Given the description of an element on the screen output the (x, y) to click on. 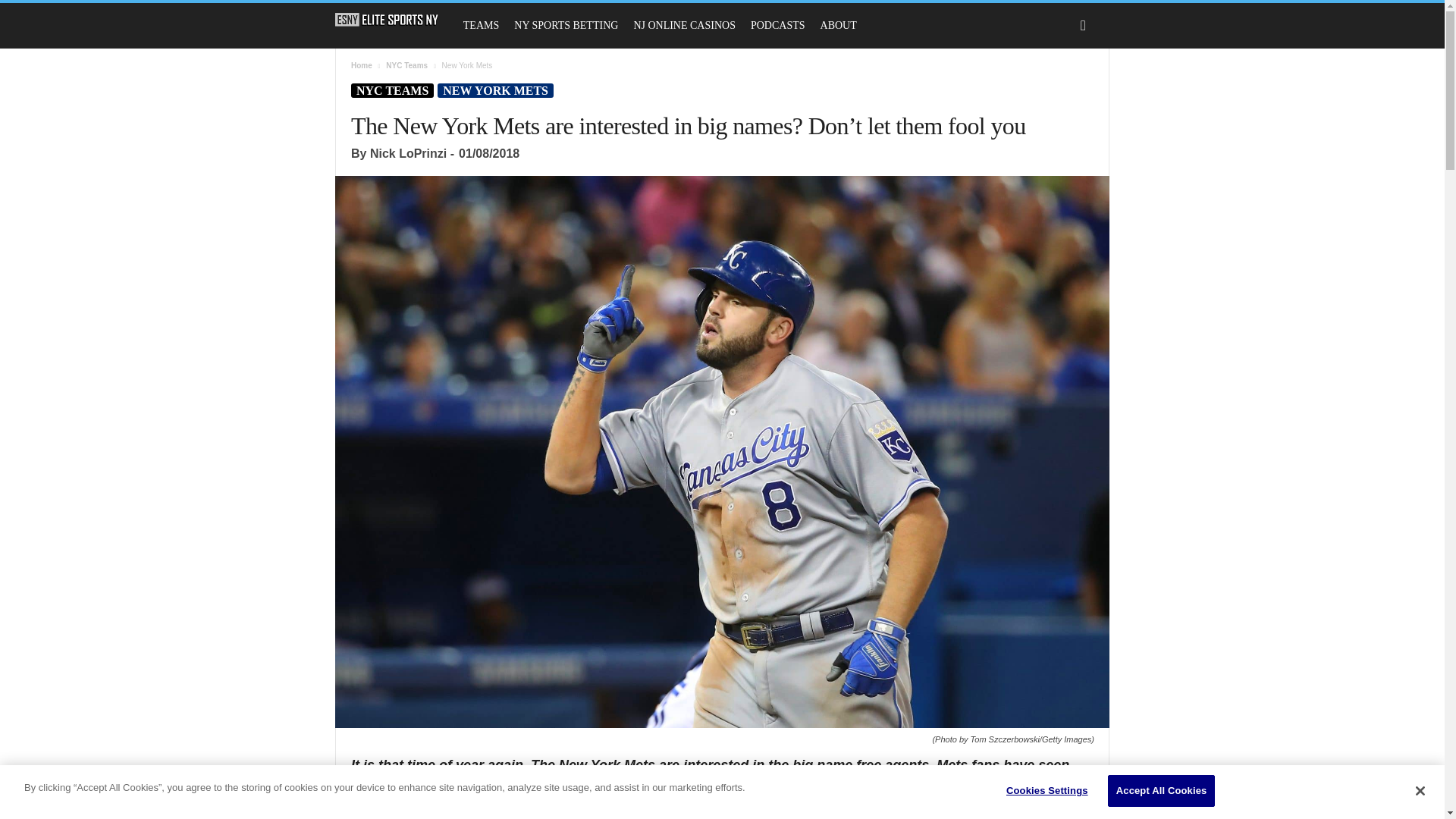
Elite Sports NY (386, 19)
View all posts in NYC Teams (406, 65)
TEAMS (480, 25)
Elite Sports NY (394, 19)
